Given the description of an element on the screen output the (x, y) to click on. 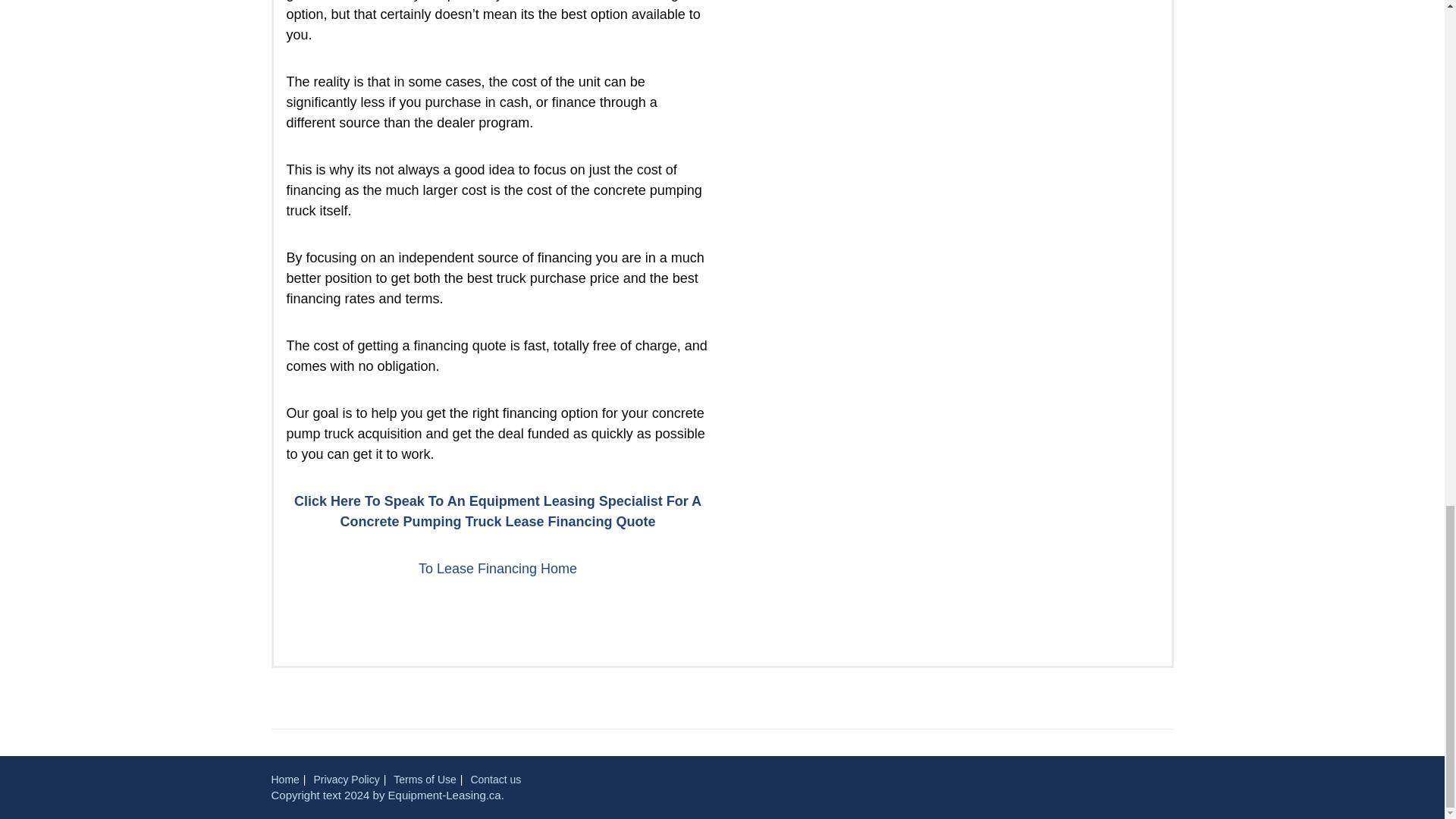
Privacy Policy (347, 779)
Home (284, 779)
Contact us (495, 779)
Terms of Use (424, 779)
To Lease Financing Home (497, 568)
